Given the description of an element on the screen output the (x, y) to click on. 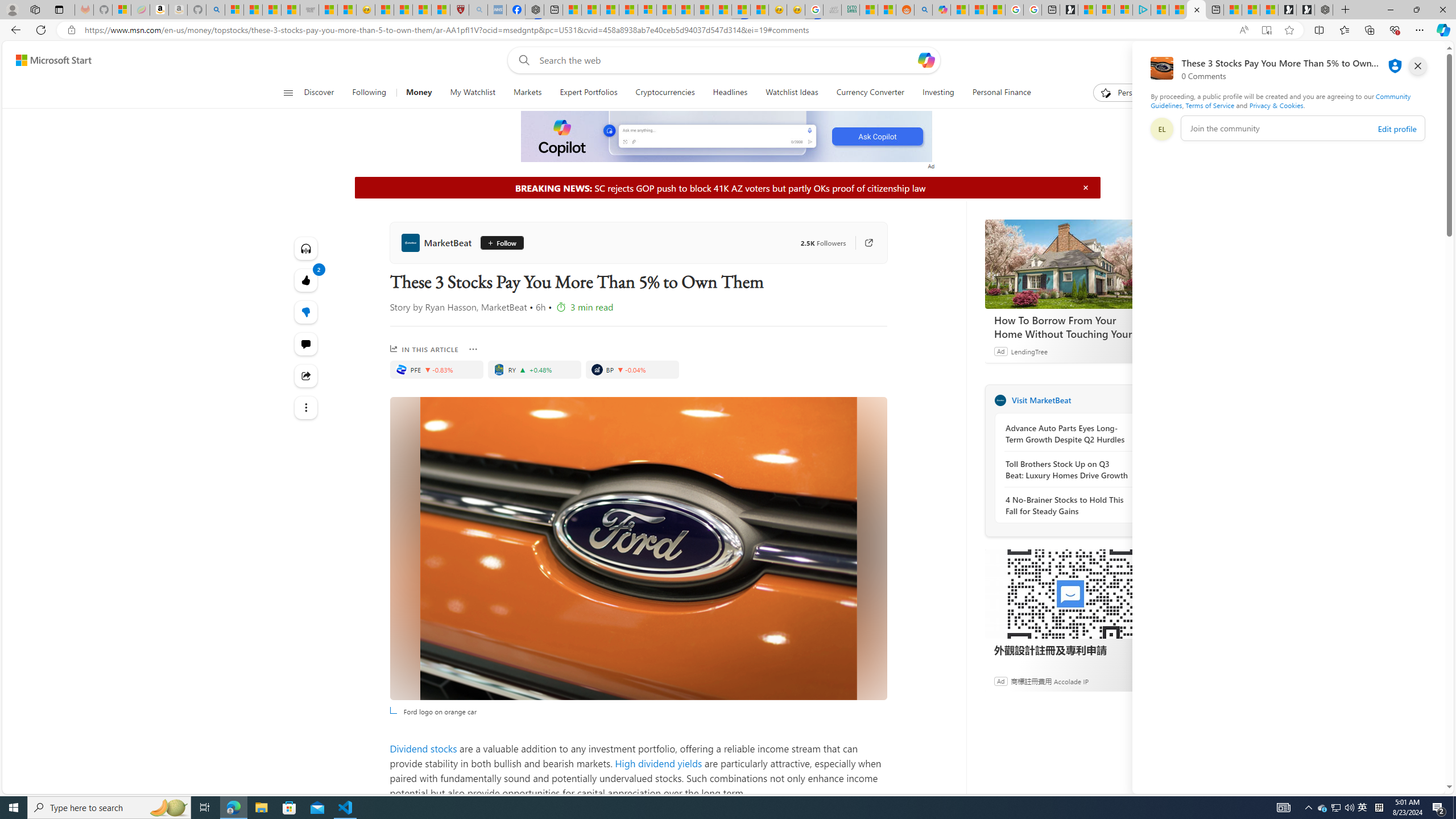
Edit profile (1396, 128)
My Watchlist (472, 92)
Toll Brothers Stock Up on Q3 Beat: Luxury Homes Drive Growth (1066, 469)
Markets (527, 92)
Currency Converter (869, 92)
PFE, PFIZER INC.. Price is 28.79. Decreased by -0.83% (436, 369)
Terms of Service (1209, 104)
Listen to this article (305, 248)
Advance Auto Parts Eyes Long-Term Growth Despite Q2 Hurdles (1066, 433)
2 Like (305, 279)
